Given the description of an element on the screen output the (x, y) to click on. 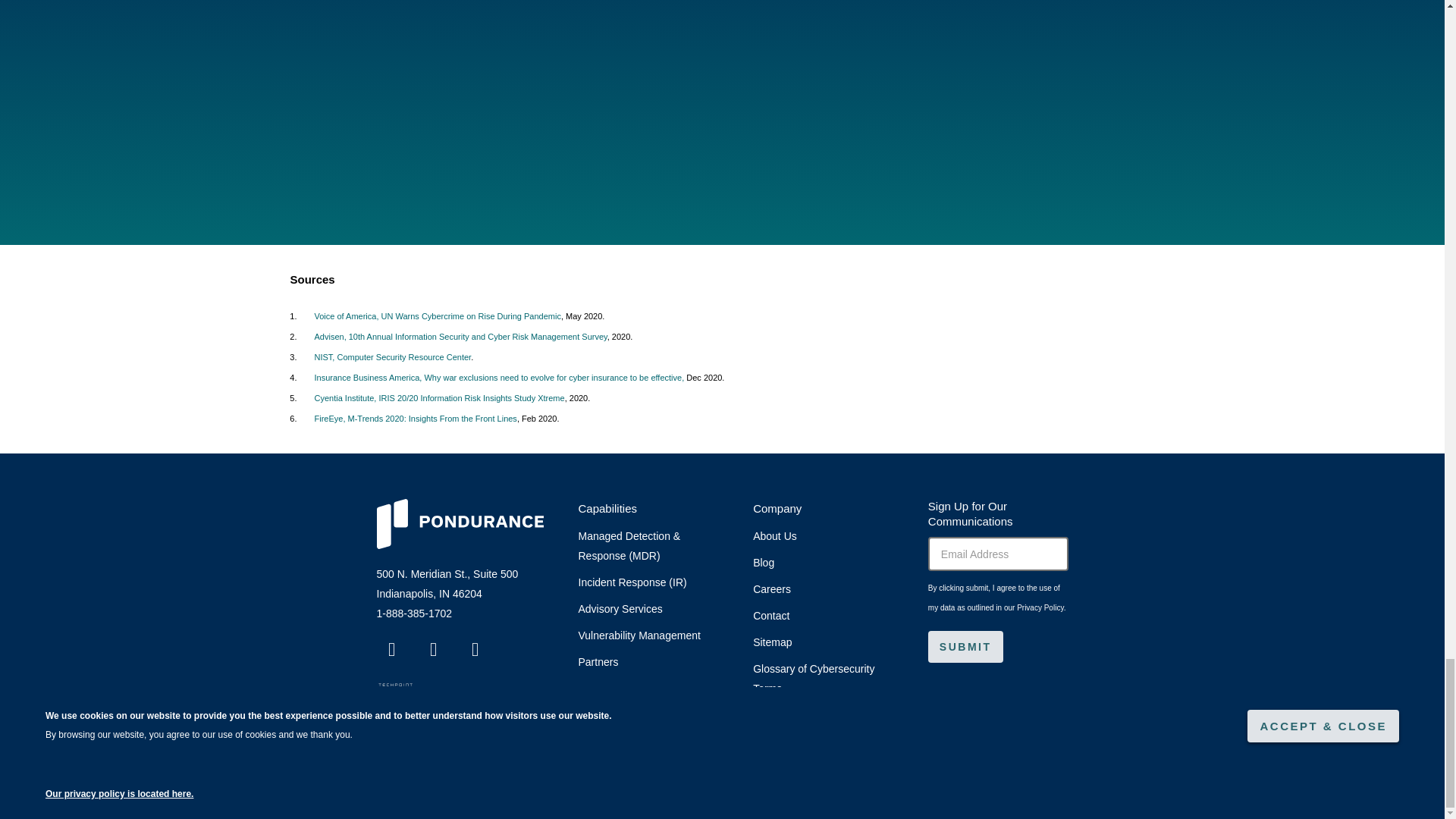
SUBMIT (965, 646)
